Given the description of an element on the screen output the (x, y) to click on. 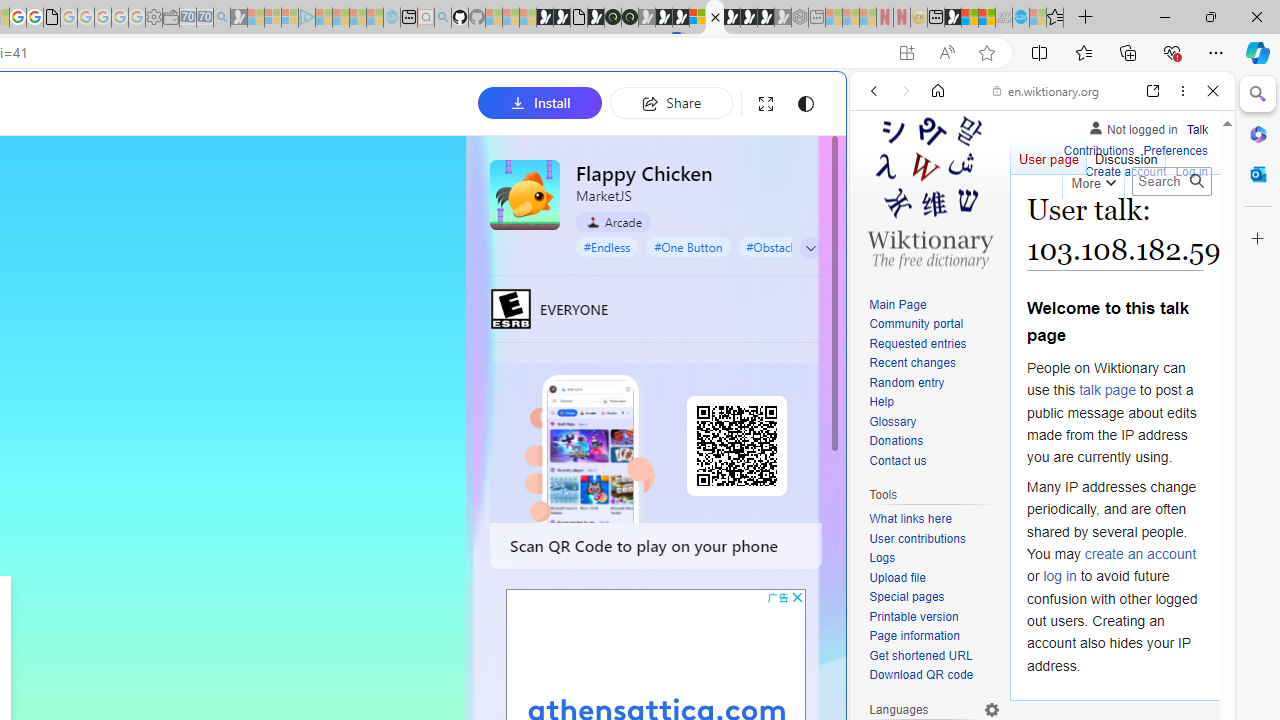
Discussion (1125, 154)
Random entry (906, 382)
log in (1059, 576)
Go (1196, 181)
Search Filter, VIDEOS (1006, 228)
Random entry (934, 382)
Settings - Sleeping (153, 17)
What links here (934, 519)
Logs (882, 557)
